Given the description of an element on the screen output the (x, y) to click on. 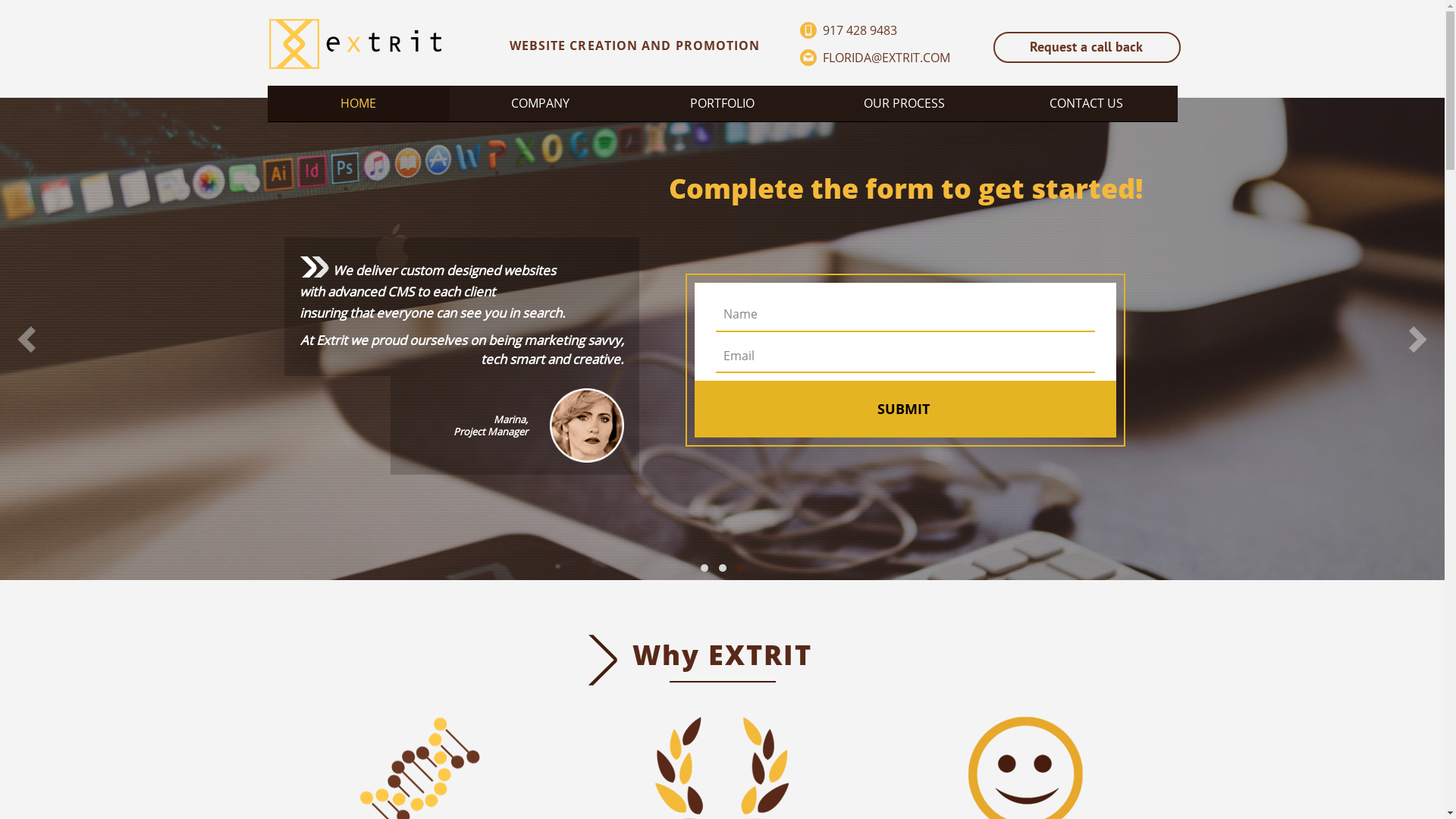
PORTFOLIO Element type: text (721, 103)
Submit Element type: text (903, 410)
CONTACT US Element type: text (1085, 103)
Request a call back Element type: text (1086, 46)
OUR PROCESS Element type: text (903, 103)
HOME Element type: text (357, 103)
